Given the description of an element on the screen output the (x, y) to click on. 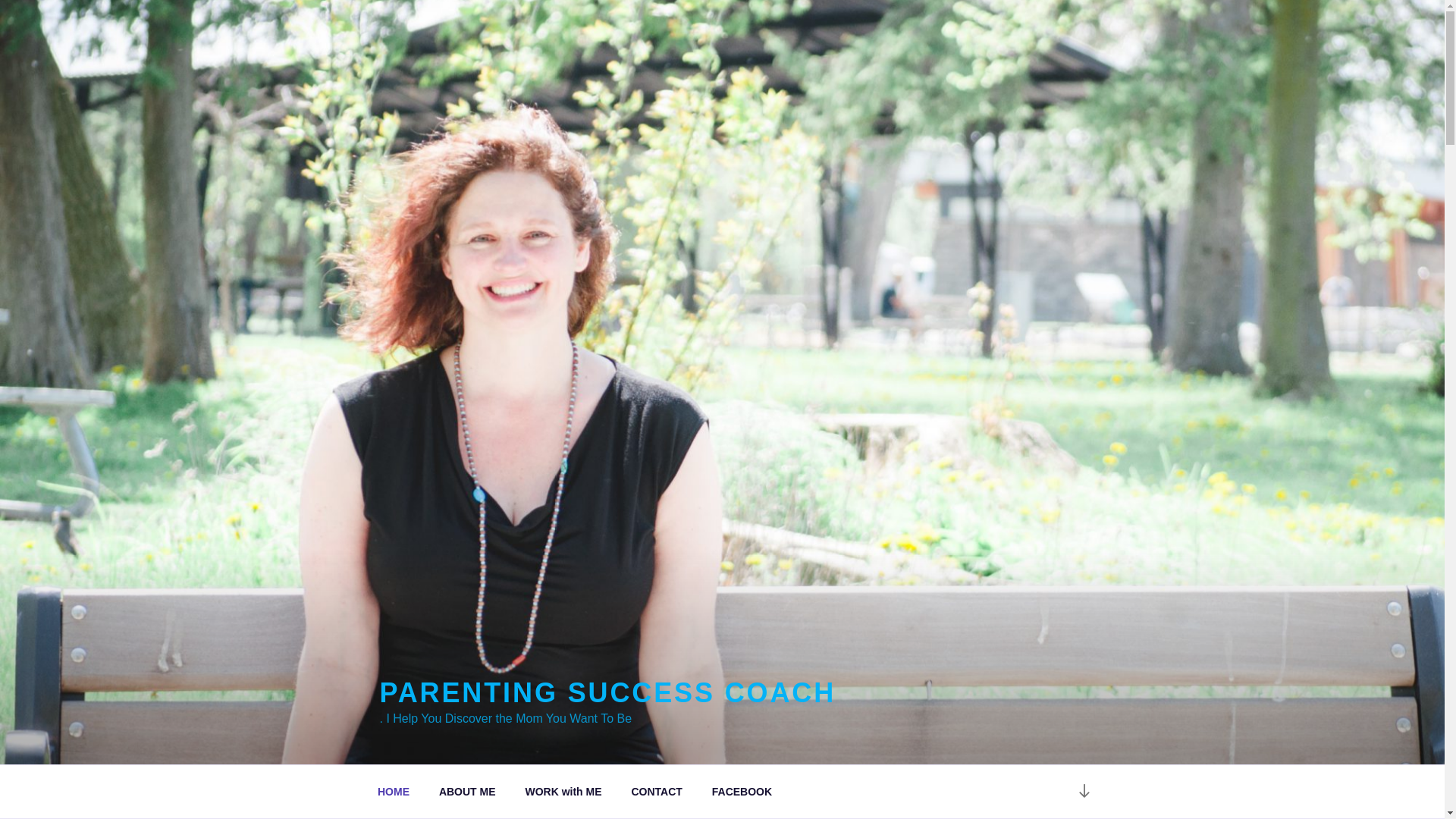
Scroll down to content (1082, 791)
ABOUT ME (466, 791)
PARENTING SUCCESS COACH (606, 692)
FACEBOOK (741, 791)
Scroll down to content (1082, 791)
WORK with ME (563, 791)
CONTACT (656, 791)
HOME (393, 791)
